Given the description of an element on the screen output the (x, y) to click on. 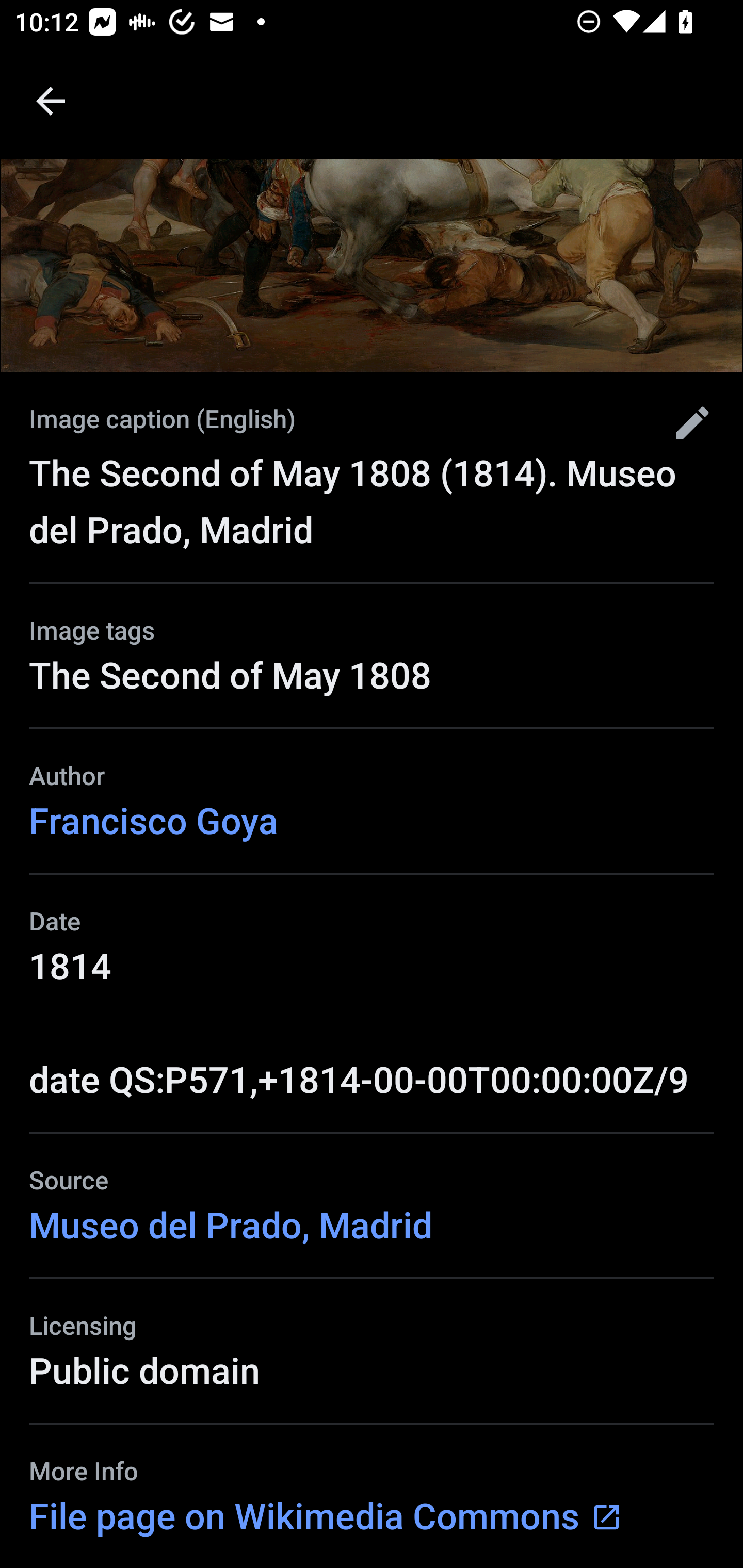
Navigate up (50, 101)
Edit Image caption (English) (685, 423)
File page on Wikimedia Commons (325, 1515)
